Given the description of an element on the screen output the (x, y) to click on. 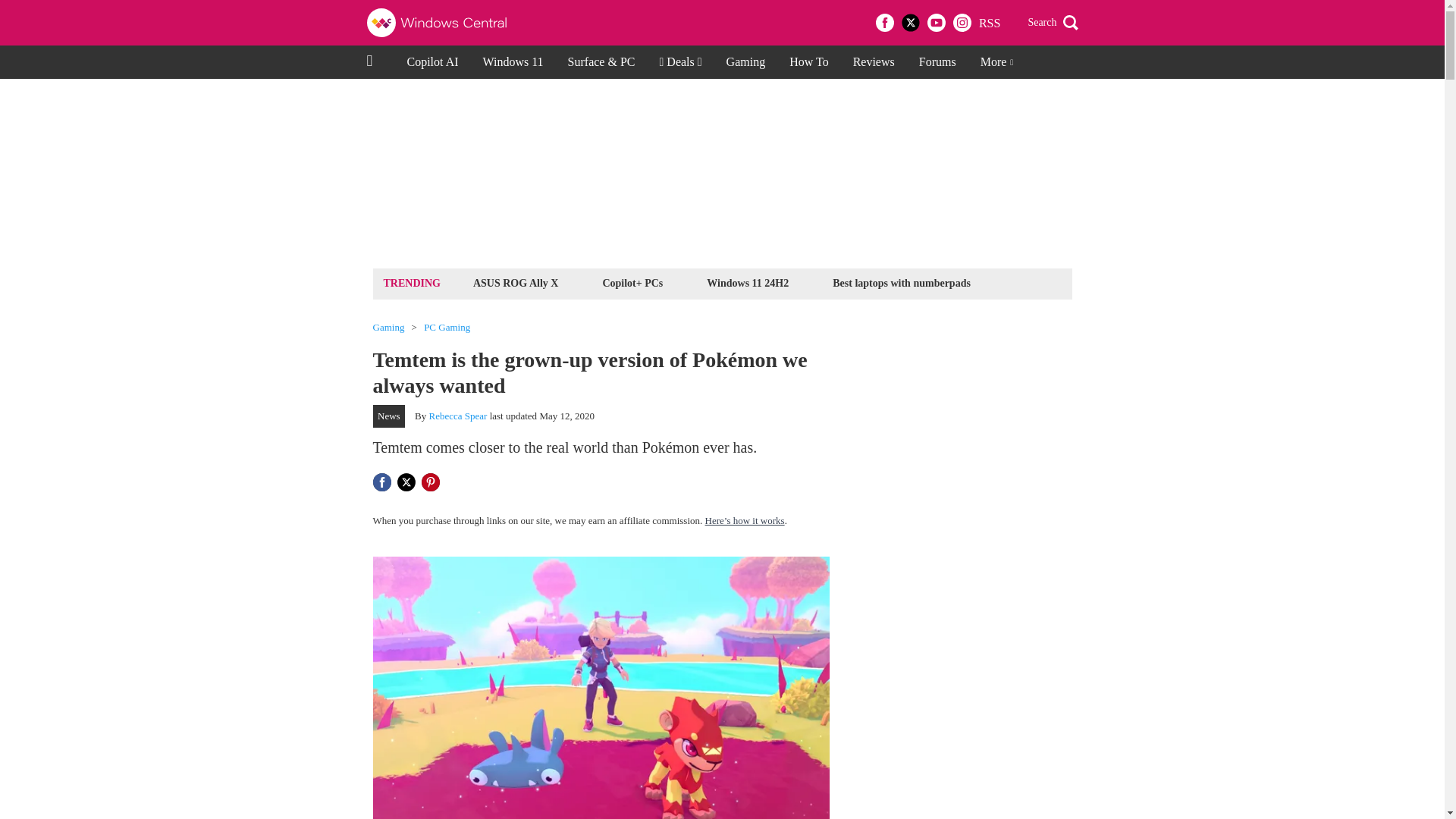
Windows 11 (513, 61)
How To (808, 61)
News (389, 415)
Reviews (874, 61)
PC Gaming (446, 327)
ASUS ROG Ally X (515, 282)
RSS (989, 22)
Windows 11 24H2 (747, 282)
Gaming (388, 327)
Gaming (745, 61)
Forums (937, 61)
Rebecca Spear (458, 415)
Best laptops with numberpads (901, 282)
Copilot AI (432, 61)
